Given the description of an element on the screen output the (x, y) to click on. 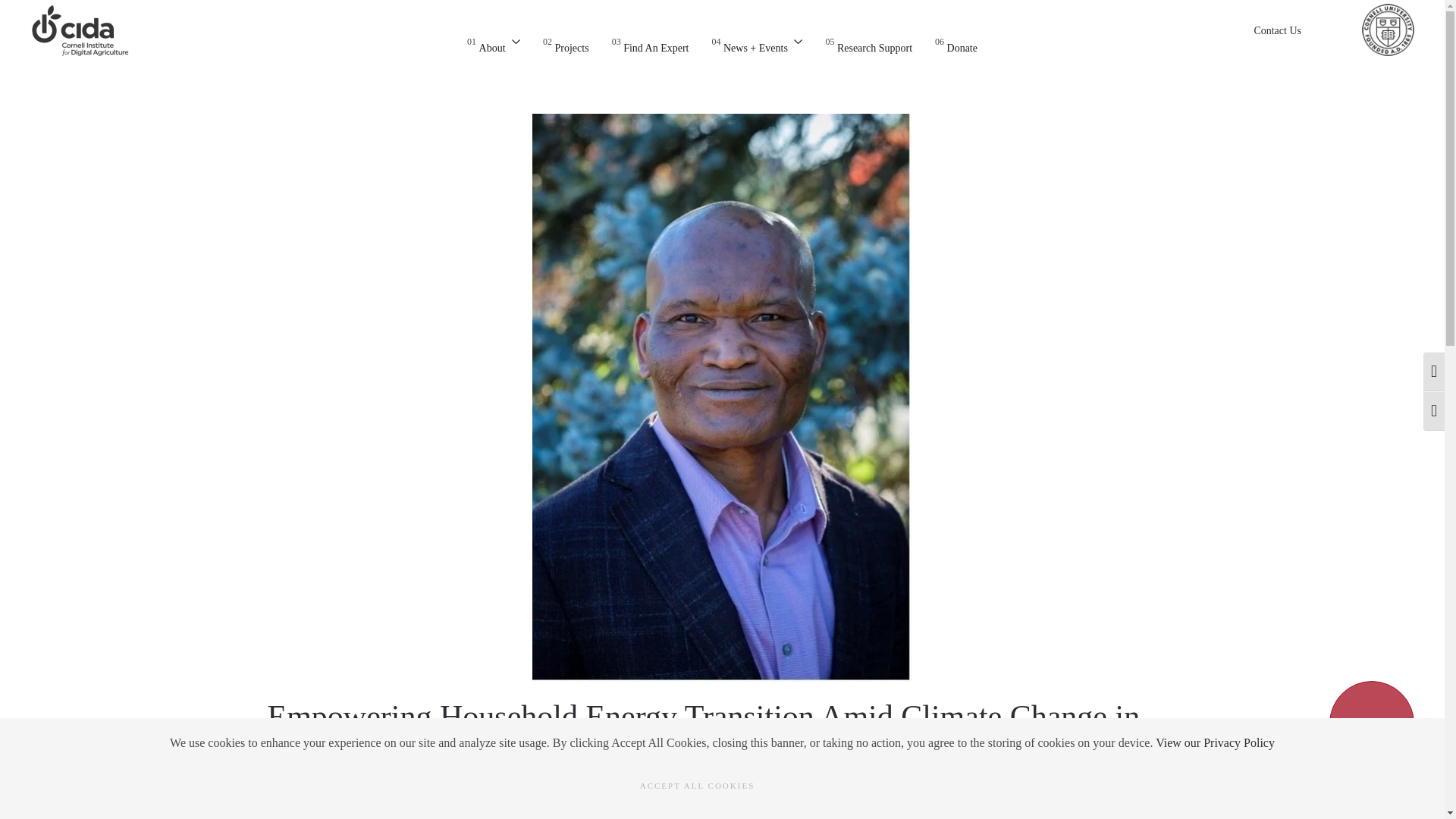
DONATE (649, 41)
Contact Us (868, 41)
